Given the description of an element on the screen output the (x, y) to click on. 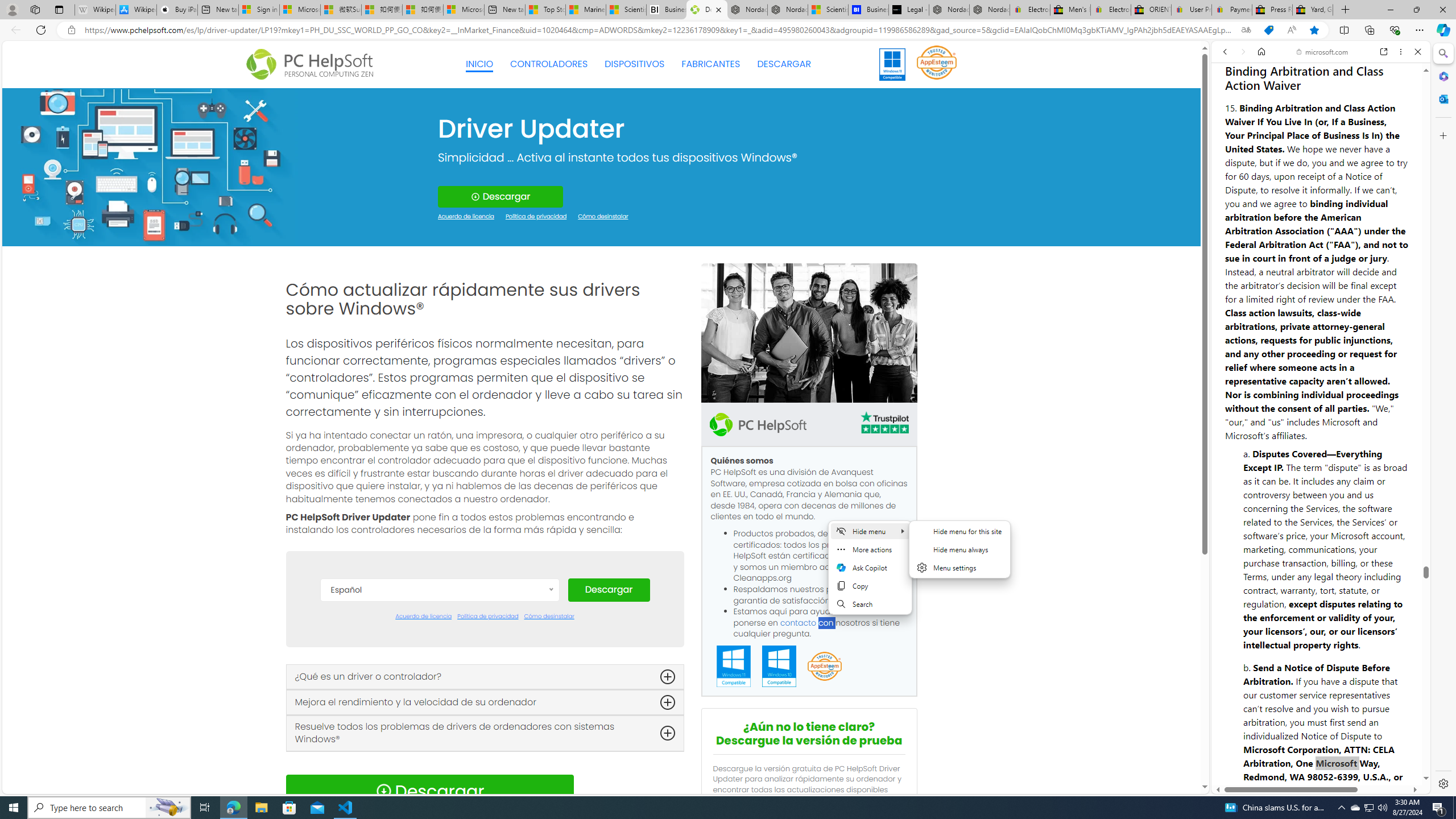
Hide menu (869, 531)
User Privacy Notice | eBay (1191, 9)
Hide menu for this site (960, 531)
New tab (504, 9)
Nederlands (439, 763)
Customize (1442, 135)
Menu settings (960, 567)
Legal (1291, 751)
Norsk (439, 780)
Open in New Tab (1321, 768)
